Given the description of an element on the screen output the (x, y) to click on. 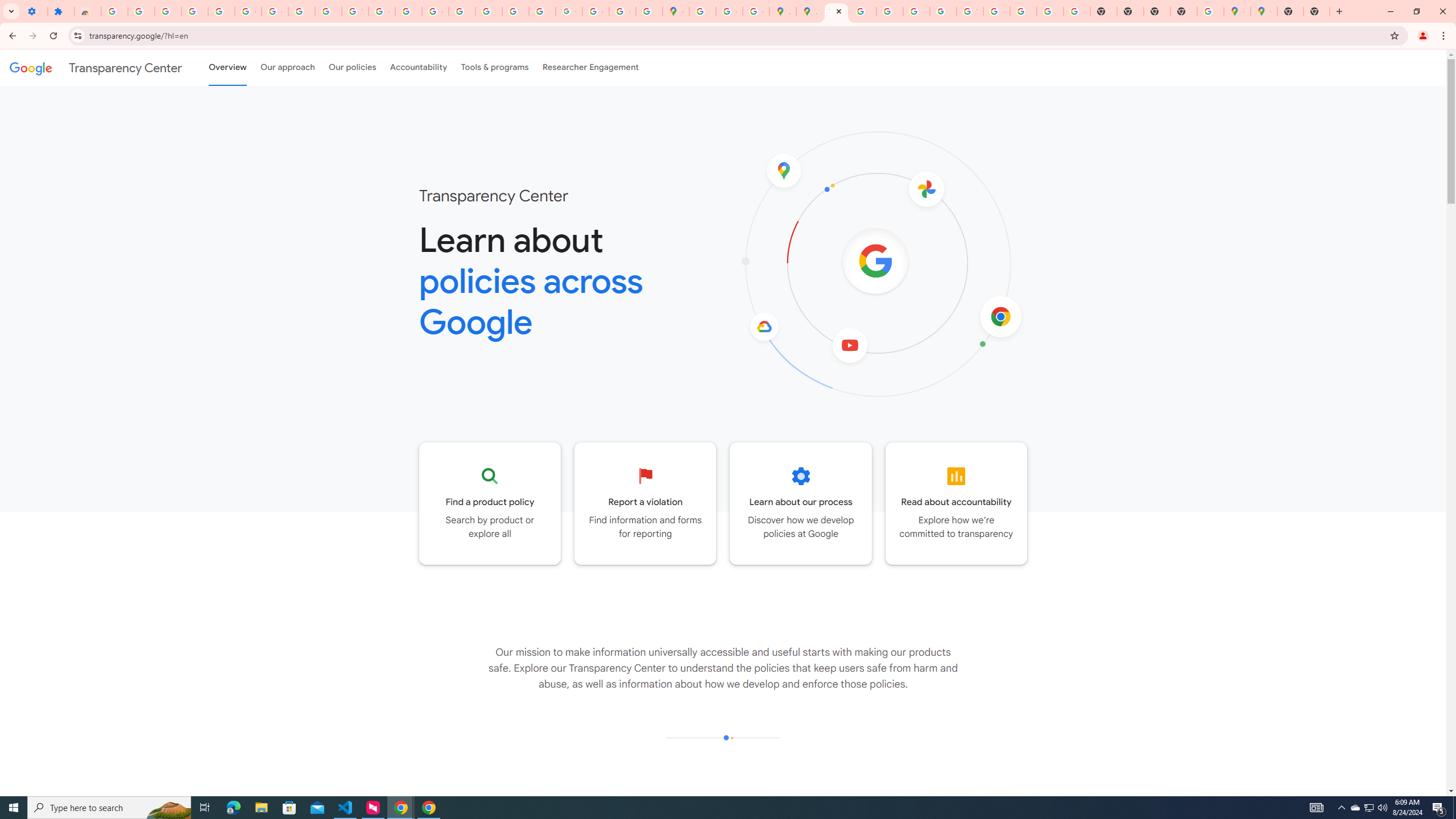
Google Maps (1236, 11)
Sign in - Google Accounts (702, 11)
Go to the Reporting and appeals page (645, 503)
Learn how to find your photos - Google Photos Help (167, 11)
Sign in - Google Accounts (221, 11)
